Given the description of an element on the screen output the (x, y) to click on. 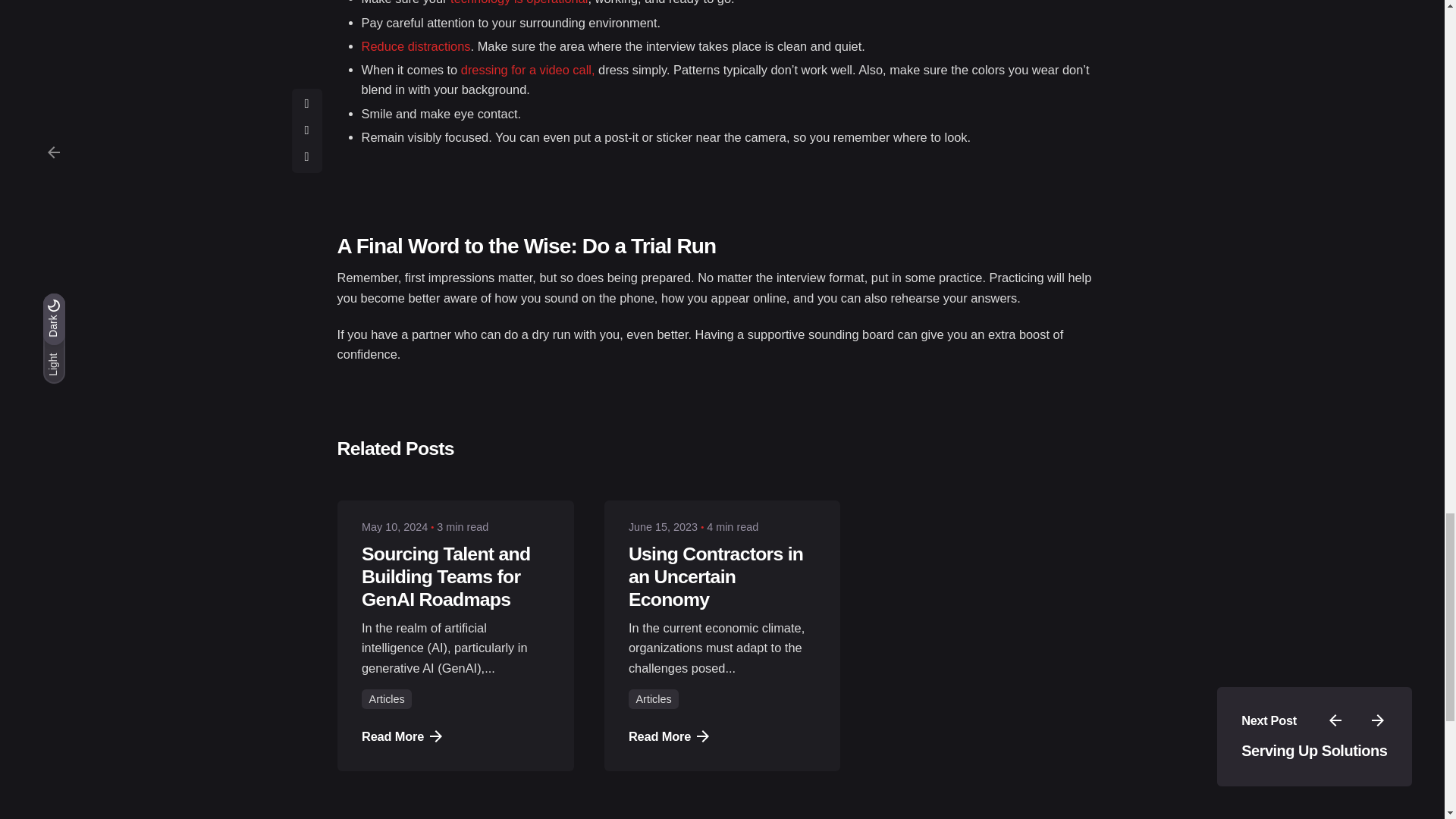
Reduce distractions (415, 46)
technology is operational (518, 2)
dressing for a video call, (528, 69)
